Given the description of an element on the screen output the (x, y) to click on. 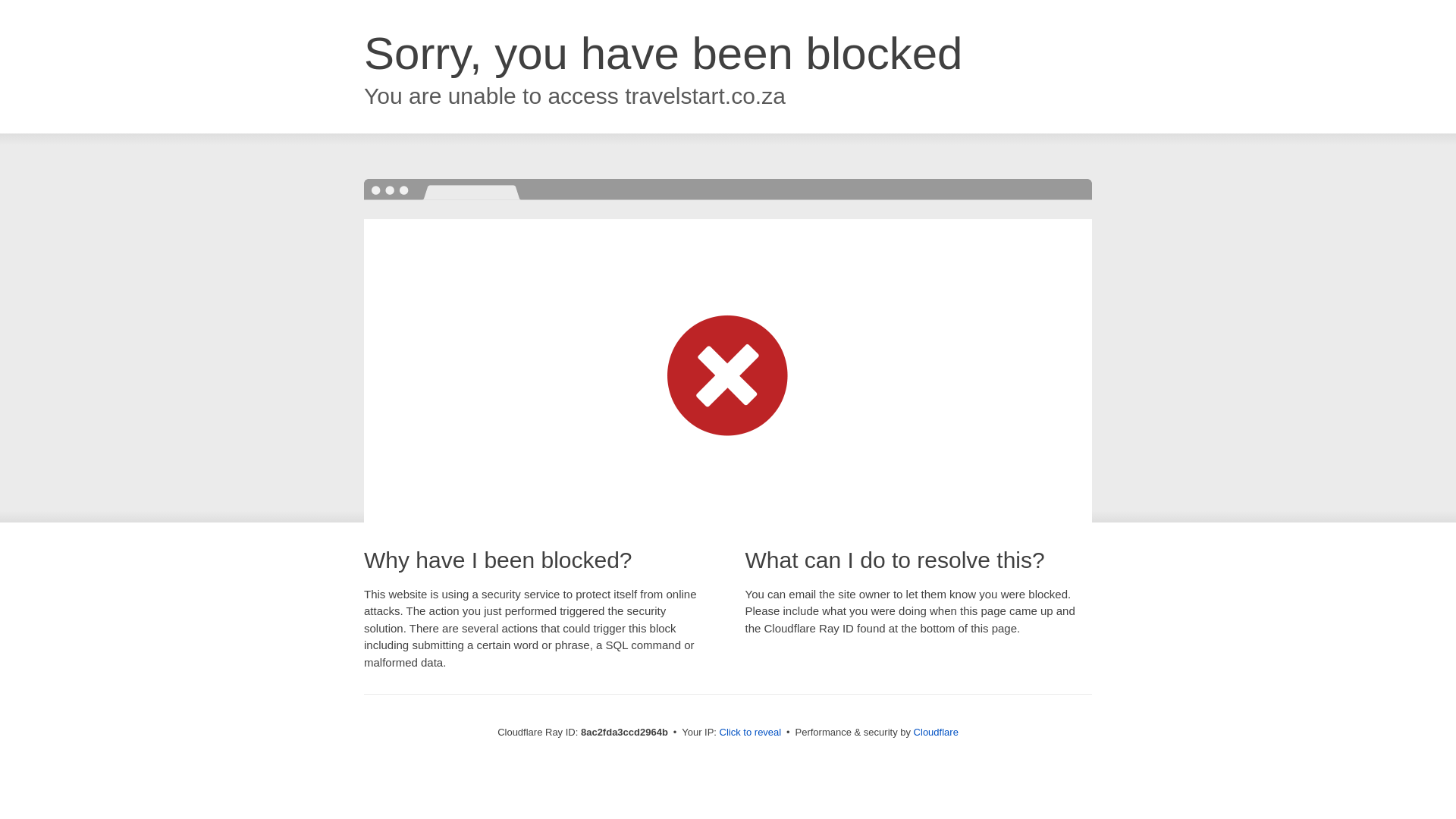
Click to reveal (750, 732)
Cloudflare (936, 731)
